Given the description of an element on the screen output the (x, y) to click on. 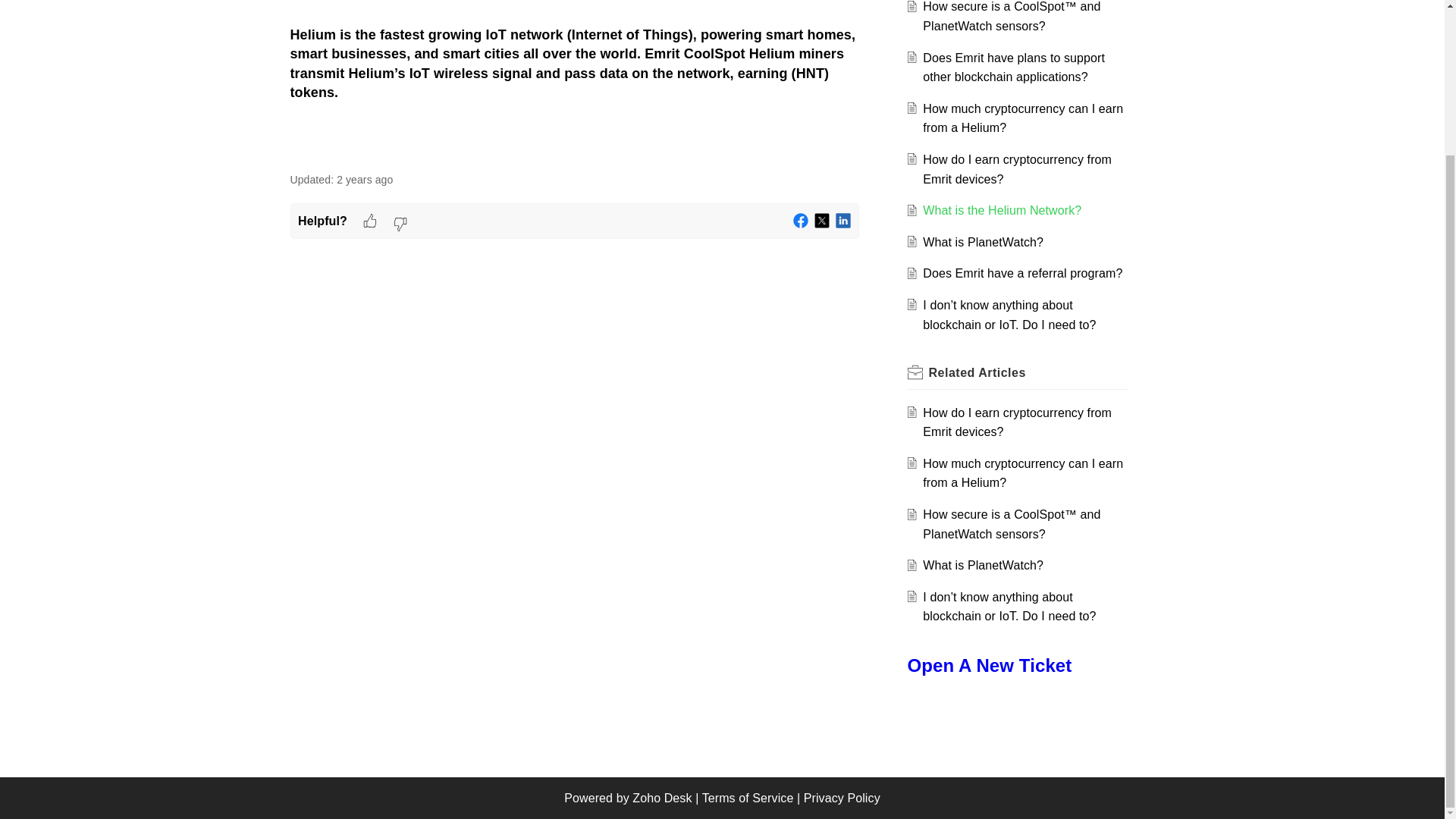
12 Apr 2022 12:50 AM (364, 179)
How do I earn cryptocurrency from Emrit devices? (1017, 169)
How much cryptocurrency can I earn from a Helium? (1022, 118)
What is PlanetWatch? (983, 241)
Facebook (800, 220)
How much cryptocurrency can I earn from a Helium? (1022, 118)
Zoho Desk (661, 797)
What is the Helium Network? (1002, 210)
Does Emrit have a referral program? (1022, 273)
Privacy Policy (841, 797)
